Given the description of an element on the screen output the (x, y) to click on. 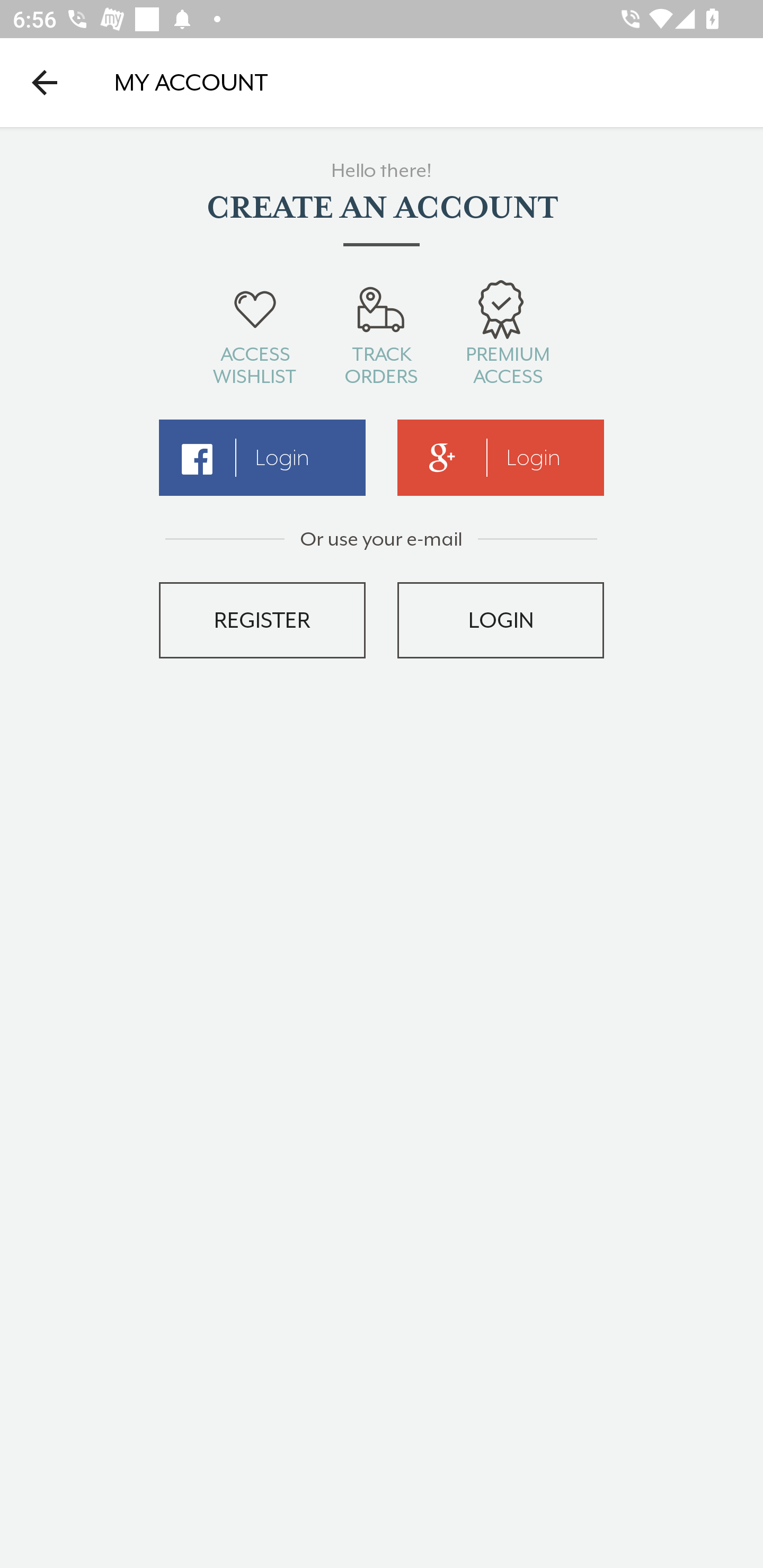
Navigate up (44, 82)
 Login (261, 457)
Login (500, 457)
REGISTER (261, 619)
LOGIN (500, 619)
